Given the description of an element on the screen output the (x, y) to click on. 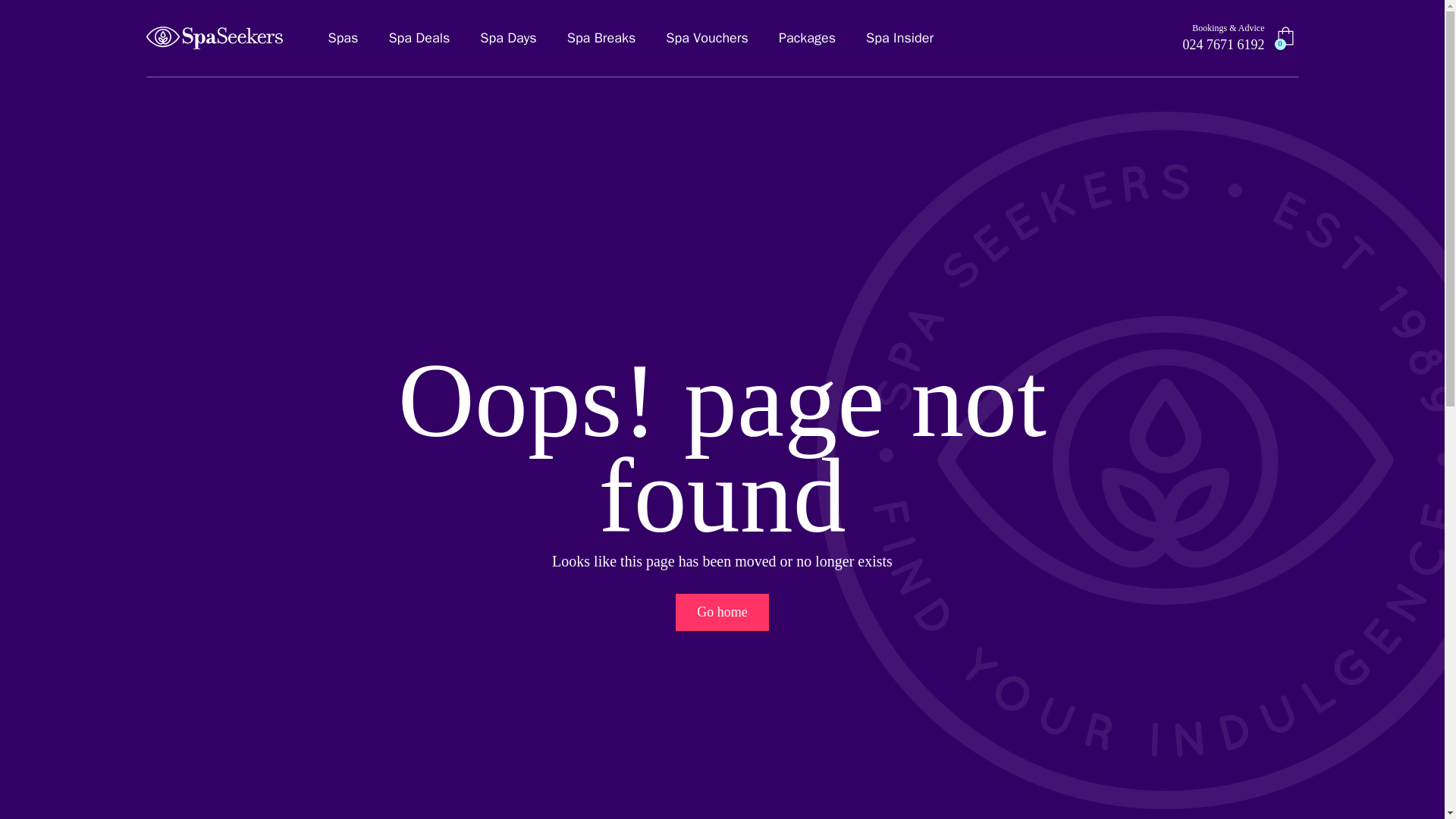
Spa Deals (418, 37)
Spas (342, 37)
024 7671 6192 (1223, 44)
